Given the description of an element on the screen output the (x, y) to click on. 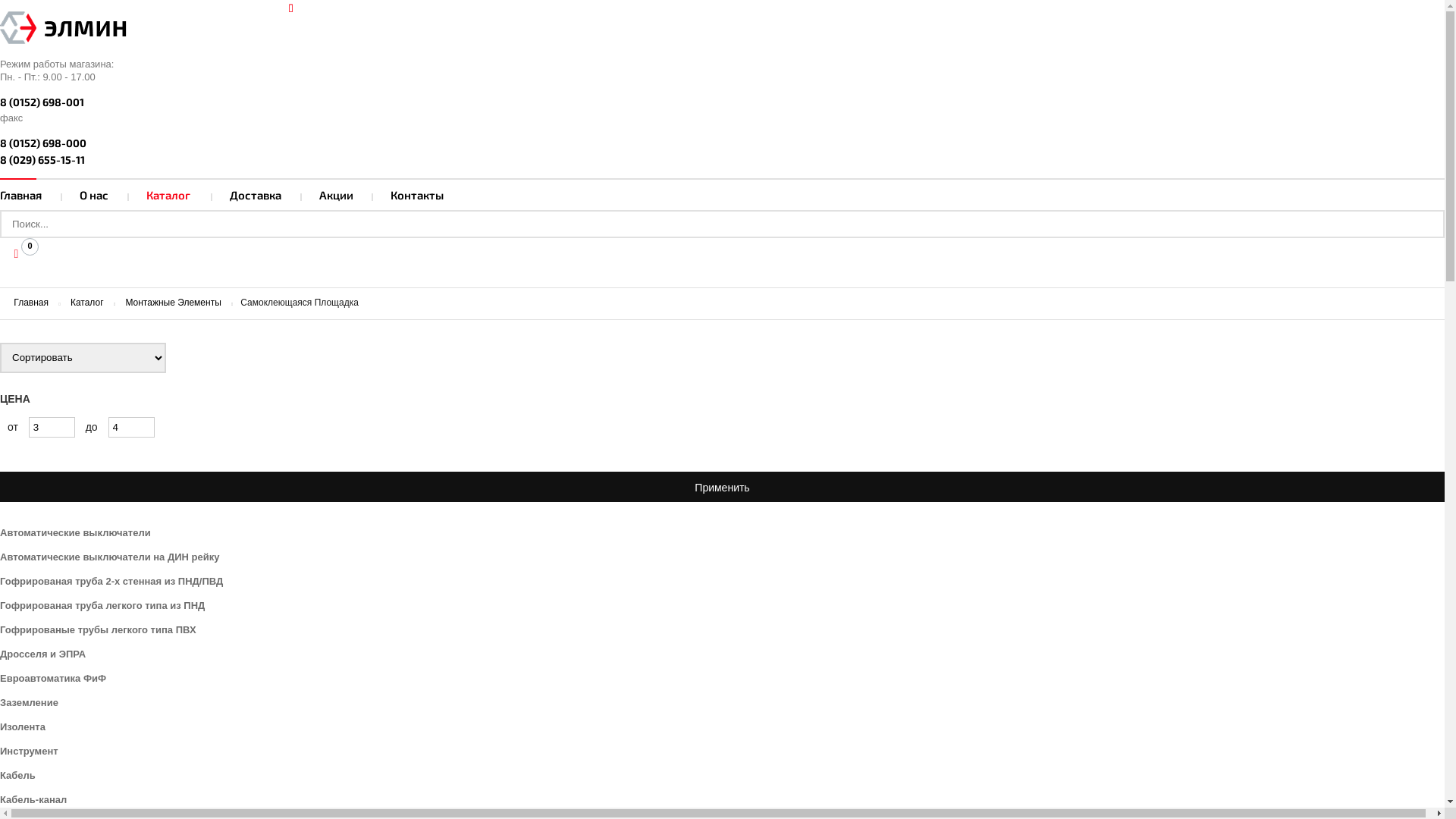
0 Element type: text (15, 253)
8 (0152) 698-001 Element type: text (722, 102)
8 (0152) 698-000 Element type: text (722, 143)
8 (029) 655-15-11 Element type: text (722, 159)
